Given the description of an element on the screen output the (x, y) to click on. 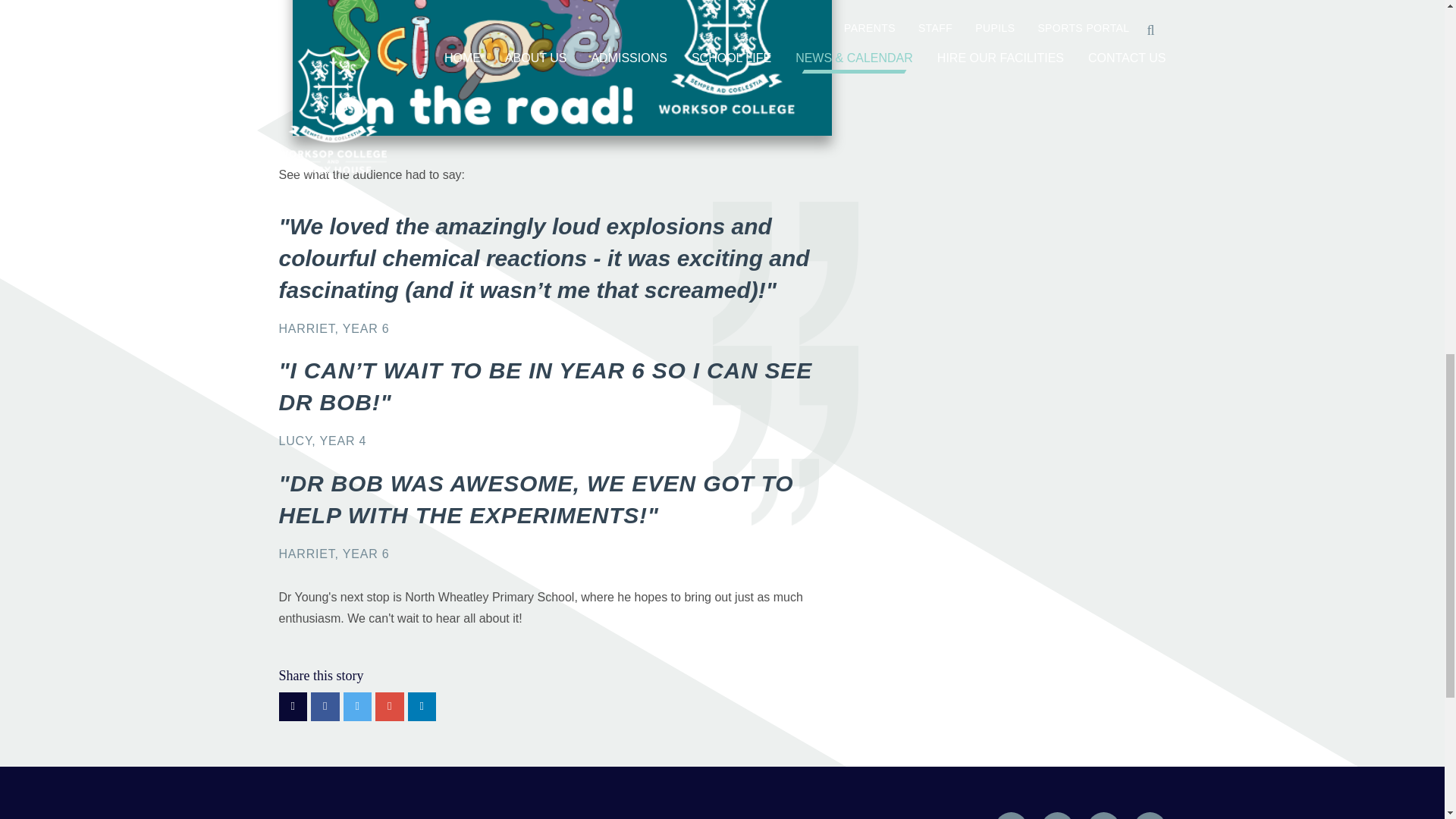
Twitter (1010, 815)
Facebook (1057, 815)
Linkedin (1149, 815)
Instagram (1103, 815)
Inspectors (736, 814)
